Given the description of an element on the screen output the (x, y) to click on. 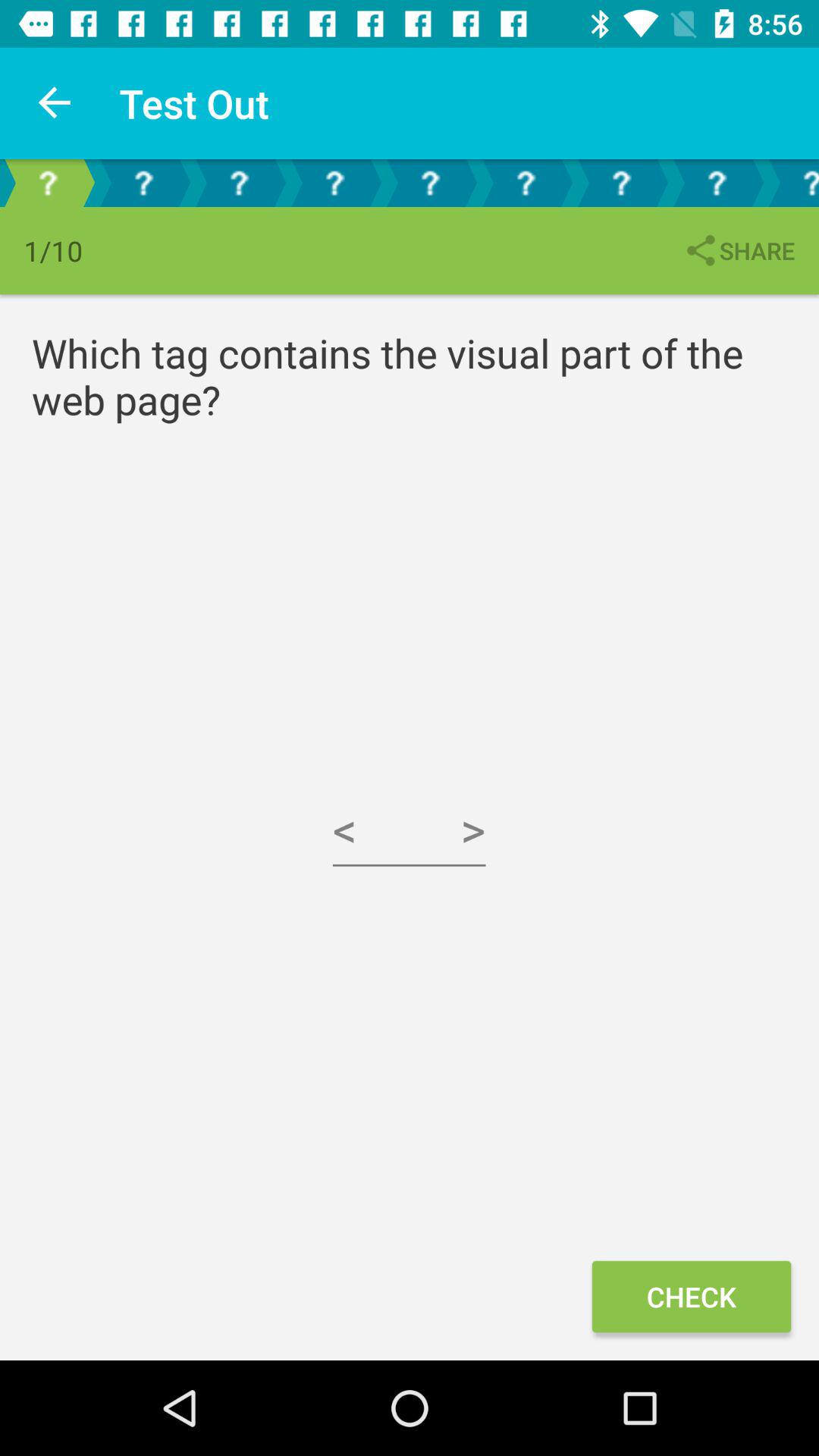
select icon next to test out item (55, 103)
